Given the description of an element on the screen output the (x, y) to click on. 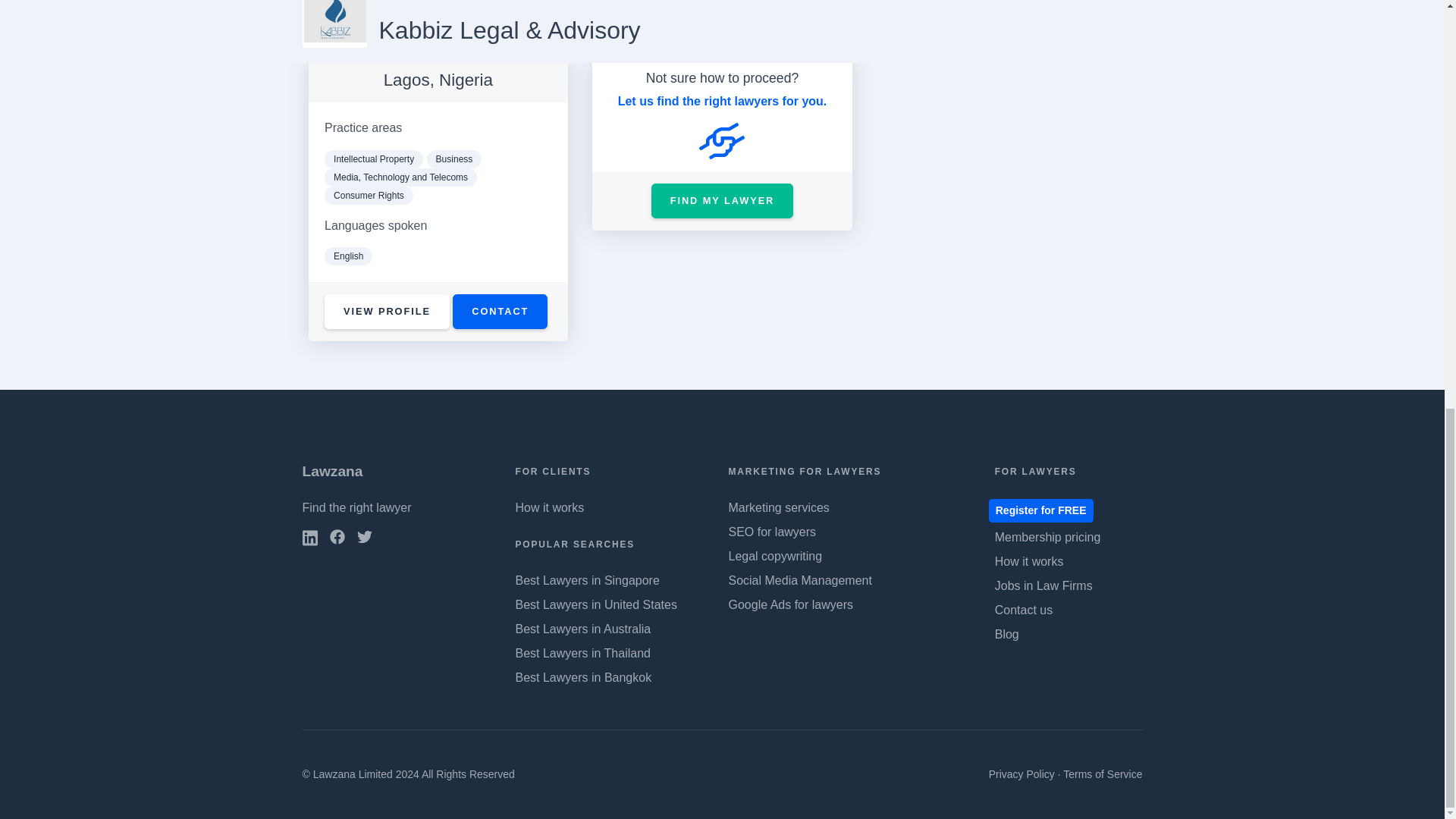
Social Media Management (799, 580)
Best Lawyers in Singapore (587, 580)
How it works (550, 507)
Blog (1006, 634)
Google Ads for lawyers (790, 604)
How it works (1029, 561)
Best Lawyers in Bangkok (583, 676)
VIEW PROFILE (386, 312)
Privacy Policy (1021, 774)
Best Lawyers in United States (596, 604)
Register for FREE (1040, 510)
SEO for lawyers (771, 531)
Best Lawyers in Thailand (582, 653)
Membership pricing (1047, 536)
Marketing services (778, 507)
